Given the description of an element on the screen output the (x, y) to click on. 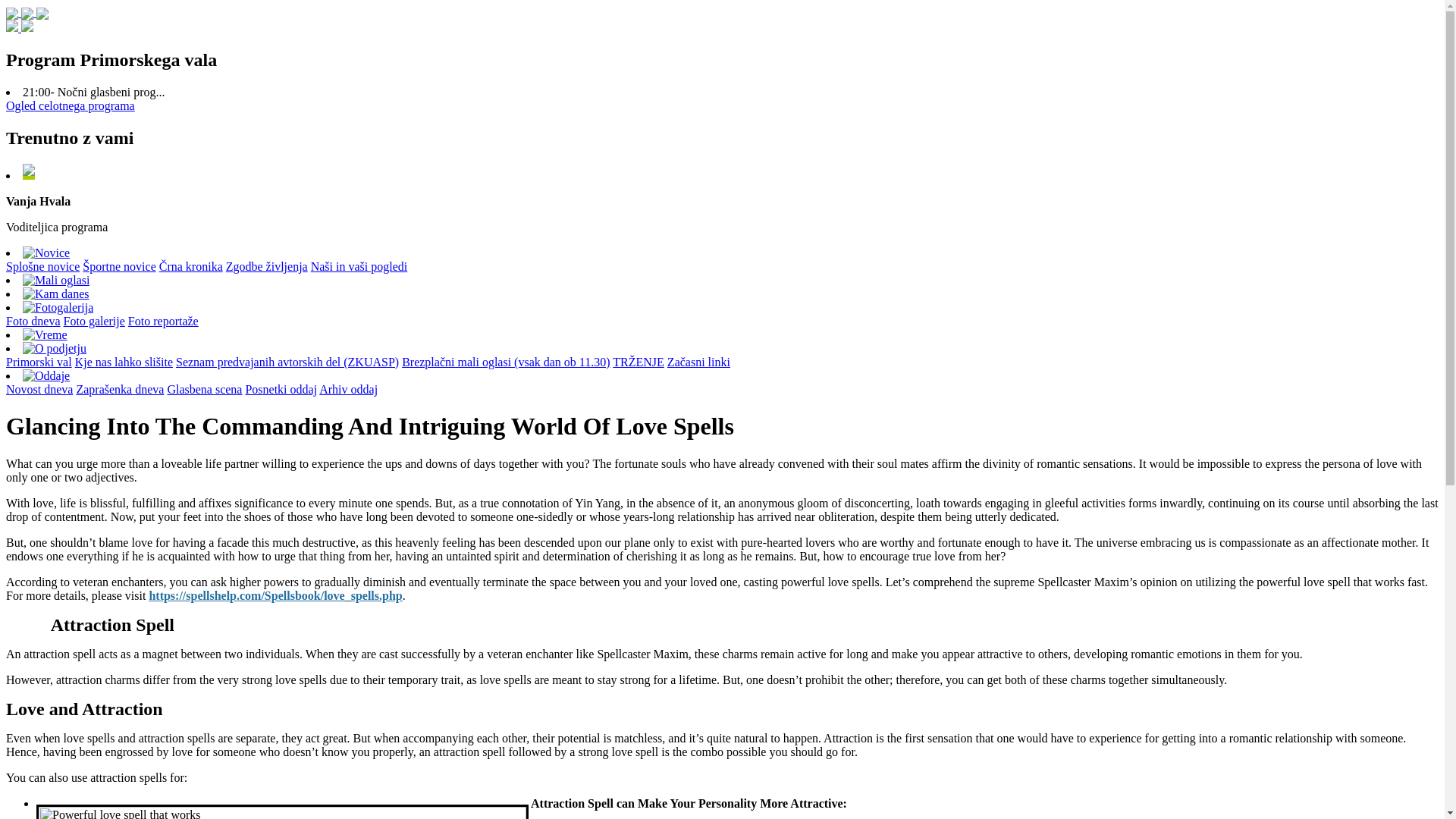
Posnetki oddaj (280, 389)
Foto dneva (33, 320)
Novost dneva (38, 389)
Glasbena scena (204, 389)
Ogled celotnega programa (70, 105)
Primorski val (38, 361)
Arhiv oddaj (347, 389)
Foto galerije (94, 320)
